Given the description of an element on the screen output the (x, y) to click on. 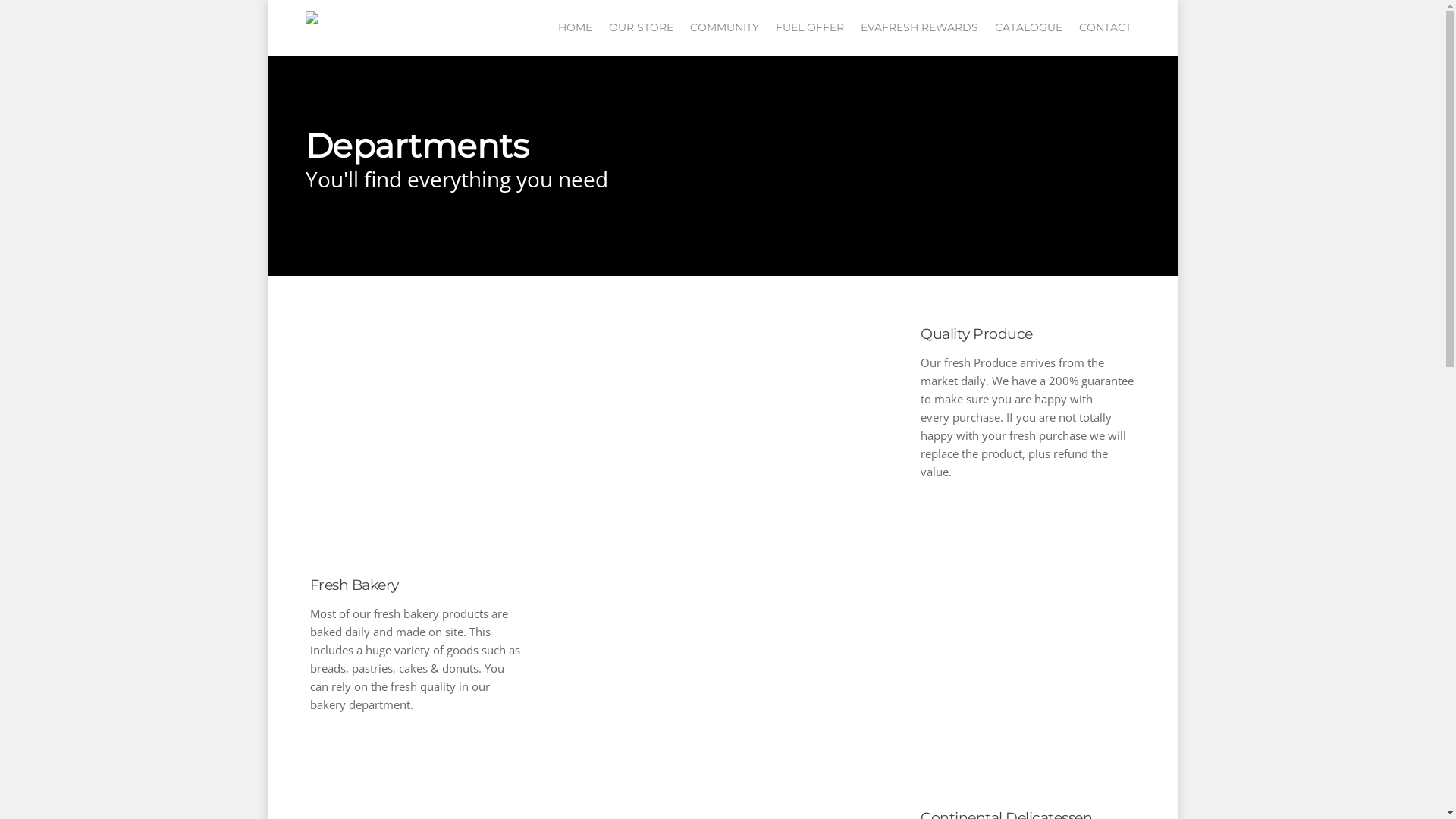
OUR STORE Element type: text (640, 33)
FUEL OFFER Element type: text (808, 33)
EVAFRESH REWARDS Element type: text (918, 33)
HOME Element type: text (574, 33)
CATALOGUE Element type: text (1028, 33)
CONTACT Element type: text (1104, 33)
COMMUNITY Element type: text (724, 33)
